Given the description of an element on the screen output the (x, y) to click on. 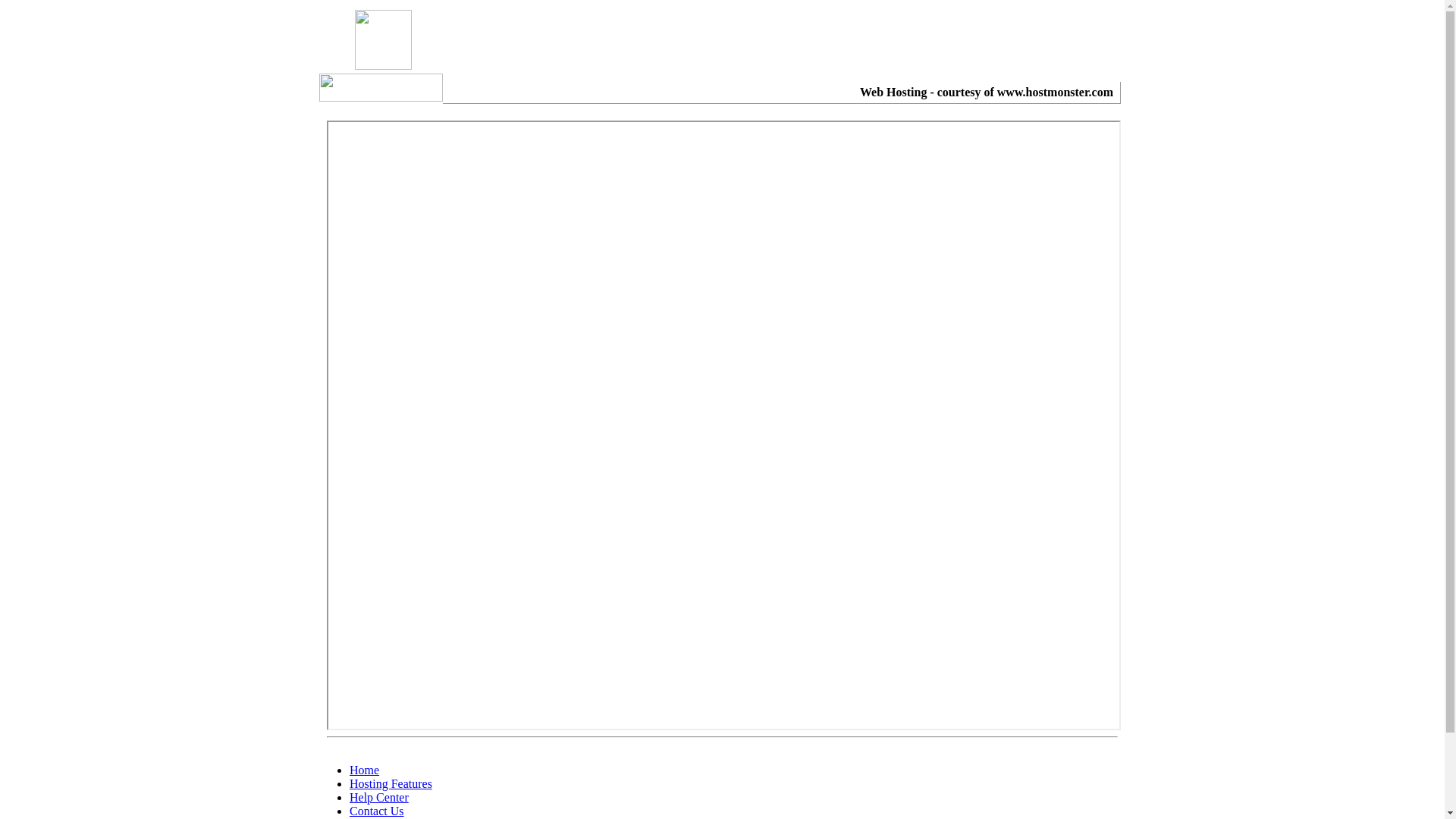
Web Hosting - courtesy of www.hostmonster.com Element type: text (986, 91)
Hosting Features Element type: text (390, 783)
Contact Us Element type: text (376, 810)
Home Element type: text (364, 769)
Help Center Element type: text (378, 796)
